Given the description of an element on the screen output the (x, y) to click on. 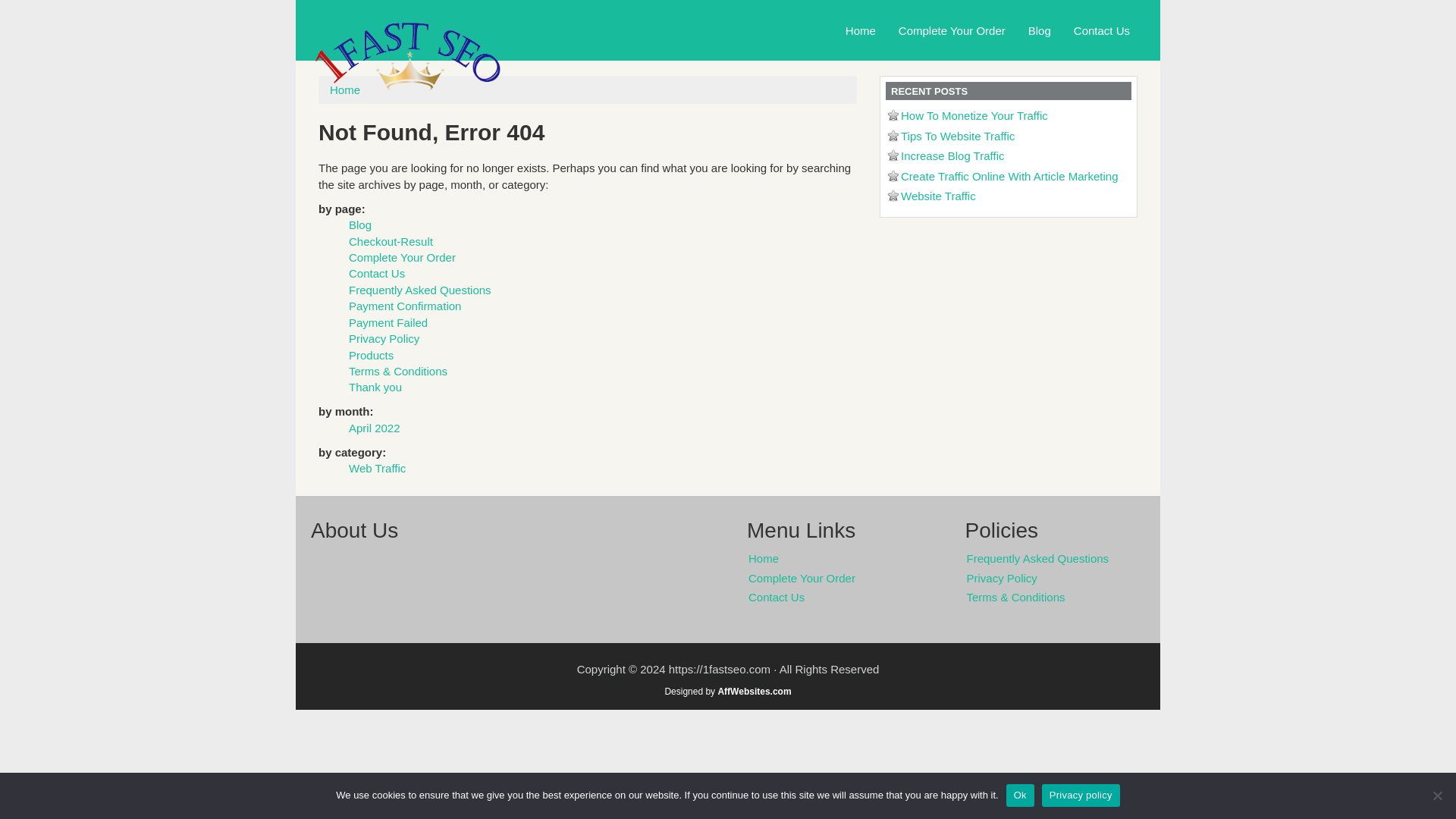
Tips To Website Traffic (957, 135)
Thank you (375, 386)
AffWebsites.com (753, 690)
Contact Us (1101, 30)
Contact Us (845, 598)
Complete Your Order (951, 30)
Increase Blog Traffic (952, 155)
Home (860, 30)
Blog (360, 224)
Privacy Policy (384, 338)
